Given the description of an element on the screen output the (x, y) to click on. 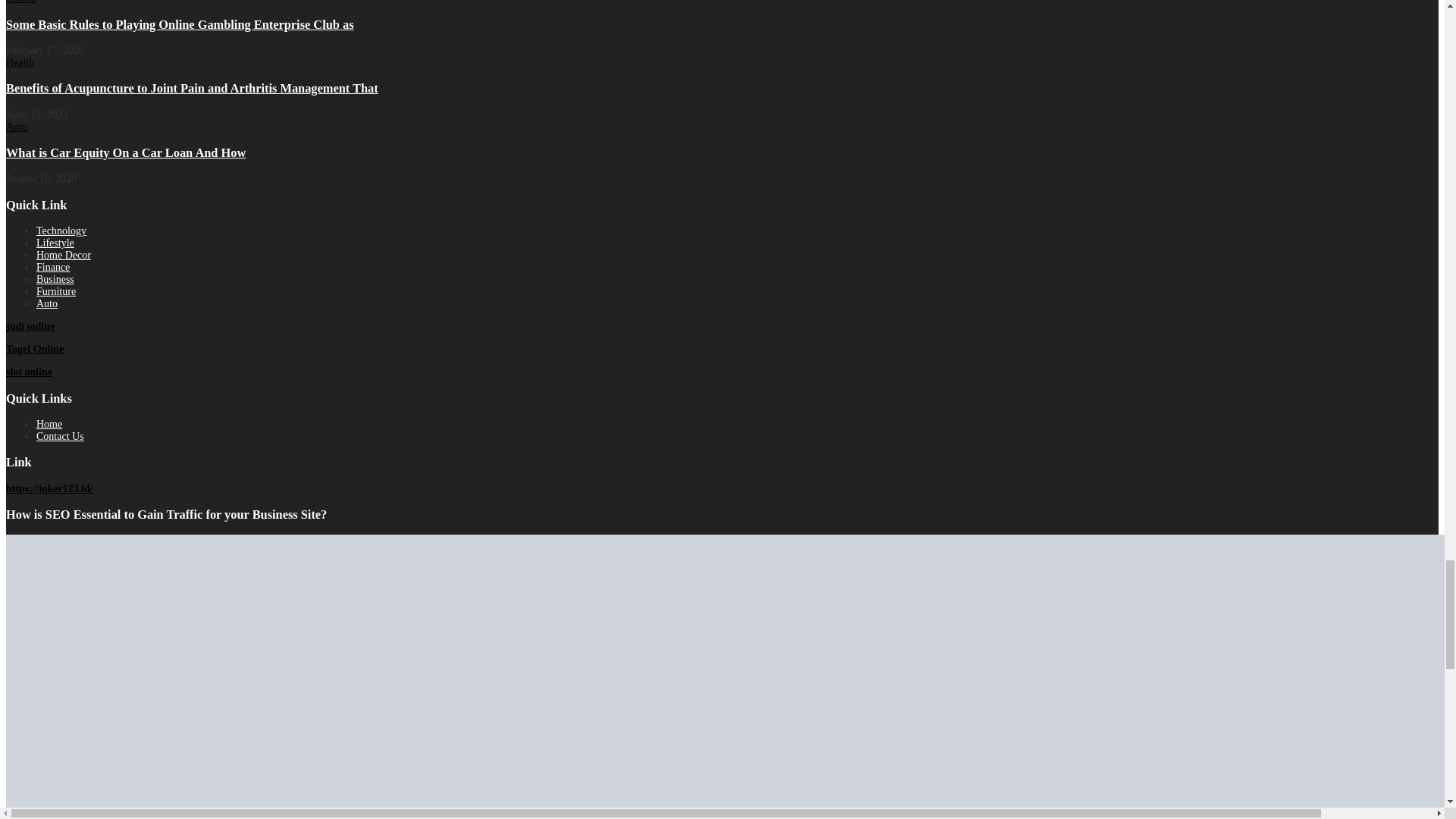
What is Car Equity On a Car Loan And How Can You Use It? (125, 152)
